Given the description of an element on the screen output the (x, y) to click on. 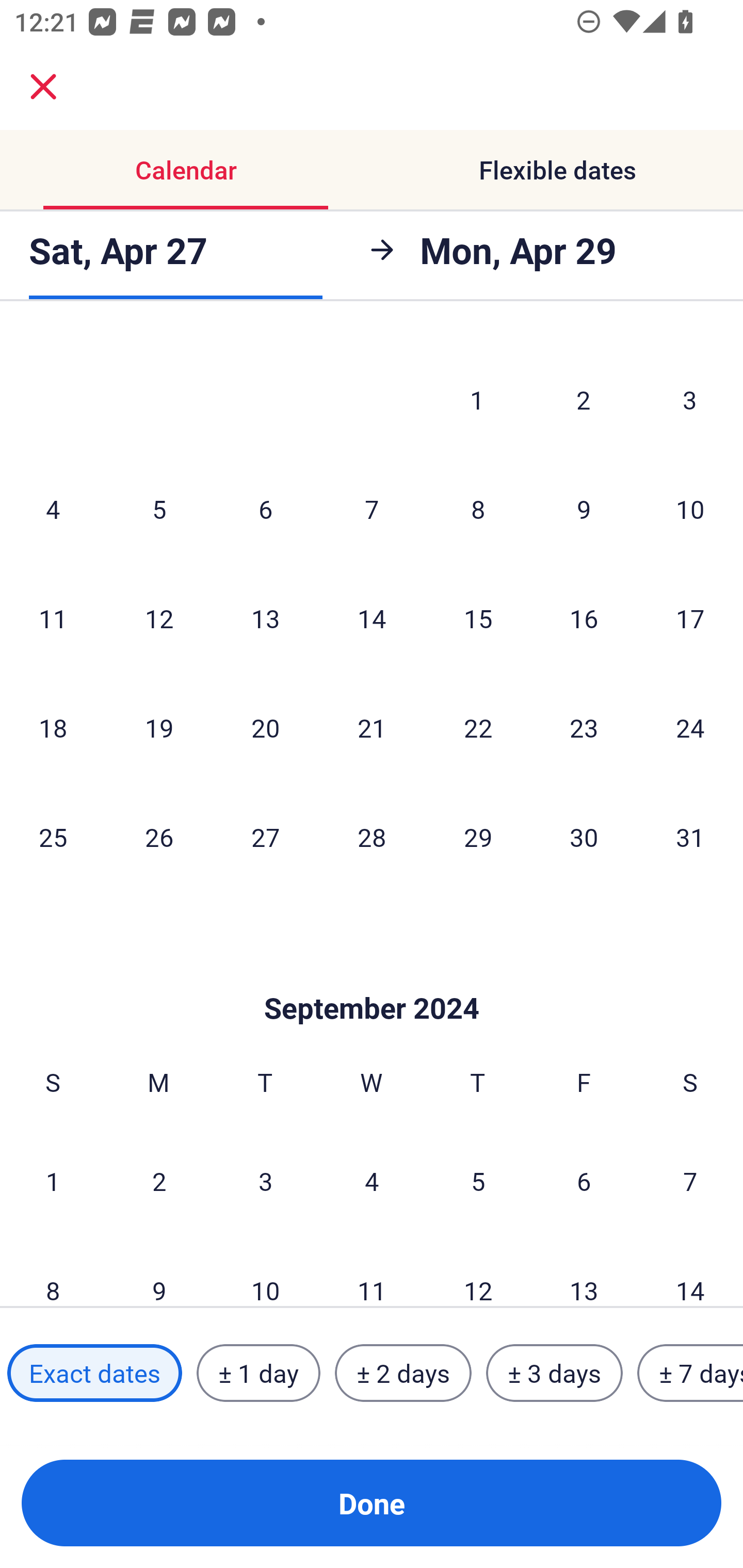
close. (43, 86)
Flexible dates (557, 170)
1 Thursday, August 1, 2024 (477, 398)
2 Friday, August 2, 2024 (583, 398)
3 Saturday, August 3, 2024 (689, 398)
4 Sunday, August 4, 2024 (53, 508)
5 Monday, August 5, 2024 (159, 508)
6 Tuesday, August 6, 2024 (265, 508)
7 Wednesday, August 7, 2024 (371, 508)
8 Thursday, August 8, 2024 (477, 508)
9 Friday, August 9, 2024 (584, 508)
10 Saturday, August 10, 2024 (690, 508)
11 Sunday, August 11, 2024 (53, 618)
12 Monday, August 12, 2024 (159, 618)
13 Tuesday, August 13, 2024 (265, 618)
14 Wednesday, August 14, 2024 (371, 618)
15 Thursday, August 15, 2024 (477, 618)
16 Friday, August 16, 2024 (584, 618)
17 Saturday, August 17, 2024 (690, 618)
18 Sunday, August 18, 2024 (53, 727)
19 Monday, August 19, 2024 (159, 727)
20 Tuesday, August 20, 2024 (265, 727)
21 Wednesday, August 21, 2024 (371, 727)
22 Thursday, August 22, 2024 (477, 727)
23 Friday, August 23, 2024 (584, 727)
24 Saturday, August 24, 2024 (690, 727)
25 Sunday, August 25, 2024 (53, 836)
26 Monday, August 26, 2024 (159, 836)
27 Tuesday, August 27, 2024 (265, 836)
28 Wednesday, August 28, 2024 (371, 836)
29 Thursday, August 29, 2024 (477, 836)
30 Friday, August 30, 2024 (584, 836)
31 Saturday, August 31, 2024 (690, 836)
Skip to Done (371, 977)
1 Sunday, September 1, 2024 (53, 1180)
2 Monday, September 2, 2024 (159, 1180)
3 Tuesday, September 3, 2024 (265, 1180)
4 Wednesday, September 4, 2024 (371, 1180)
5 Thursday, September 5, 2024 (477, 1180)
6 Friday, September 6, 2024 (584, 1180)
7 Saturday, September 7, 2024 (690, 1180)
8 Sunday, September 8, 2024 (53, 1271)
9 Monday, September 9, 2024 (159, 1271)
10 Tuesday, September 10, 2024 (265, 1271)
11 Wednesday, September 11, 2024 (371, 1271)
12 Thursday, September 12, 2024 (477, 1271)
13 Friday, September 13, 2024 (584, 1271)
14 Saturday, September 14, 2024 (690, 1271)
Exact dates (94, 1372)
± 1 day (258, 1372)
